Given the description of an element on the screen output the (x, y) to click on. 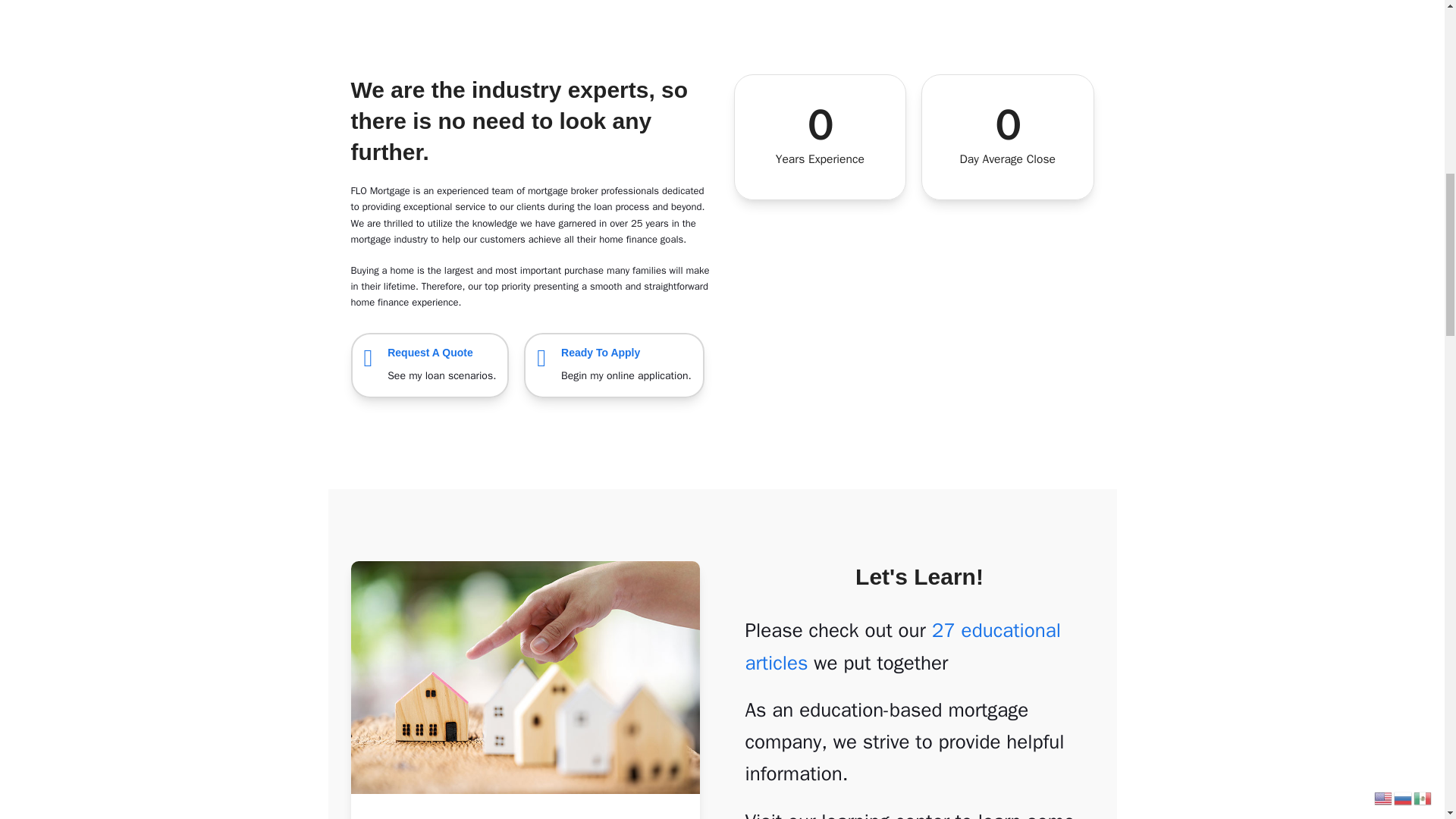
27 educational articles (613, 365)
A Step-by-Step Guide to Shopping for a New Home (901, 646)
